Given the description of an element on the screen output the (x, y) to click on. 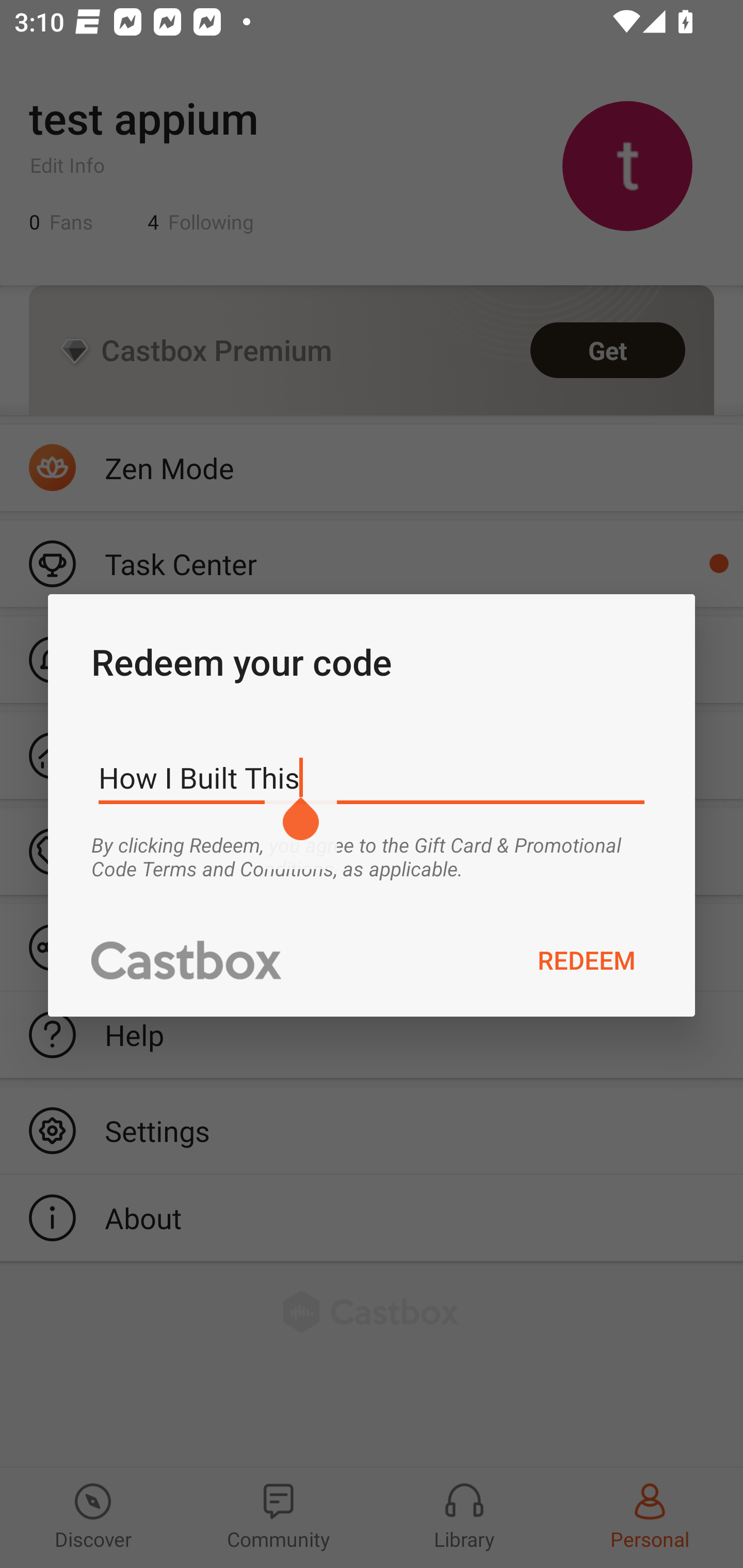
How I Built This (371, 778)
REDEEM (586, 959)
